Given the description of an element on the screen output the (x, y) to click on. 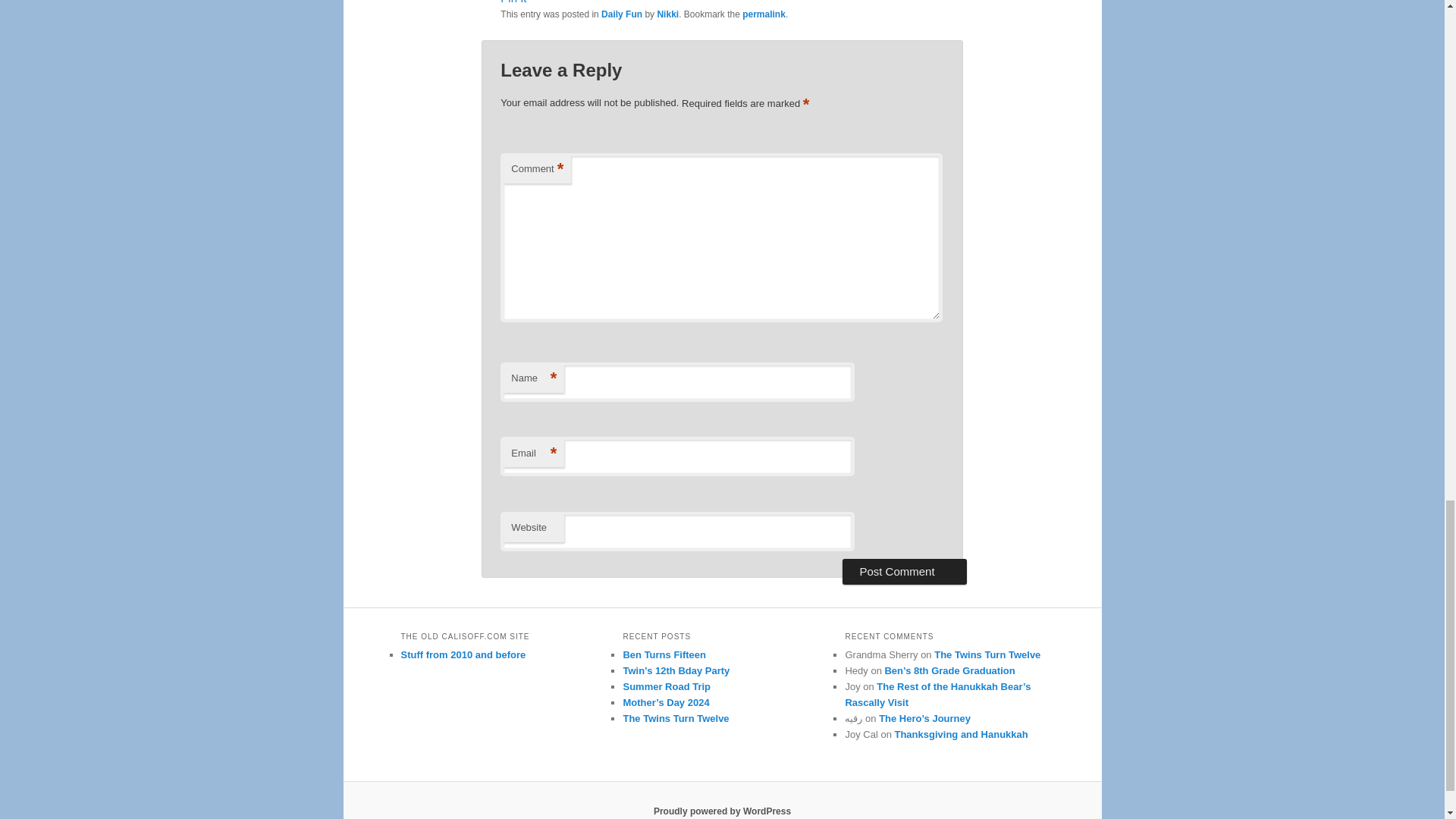
Post Comment (904, 571)
Permalink to Reading Beads (764, 14)
Semantic Personal Publishing Platform (721, 810)
